Given the description of an element on the screen output the (x, y) to click on. 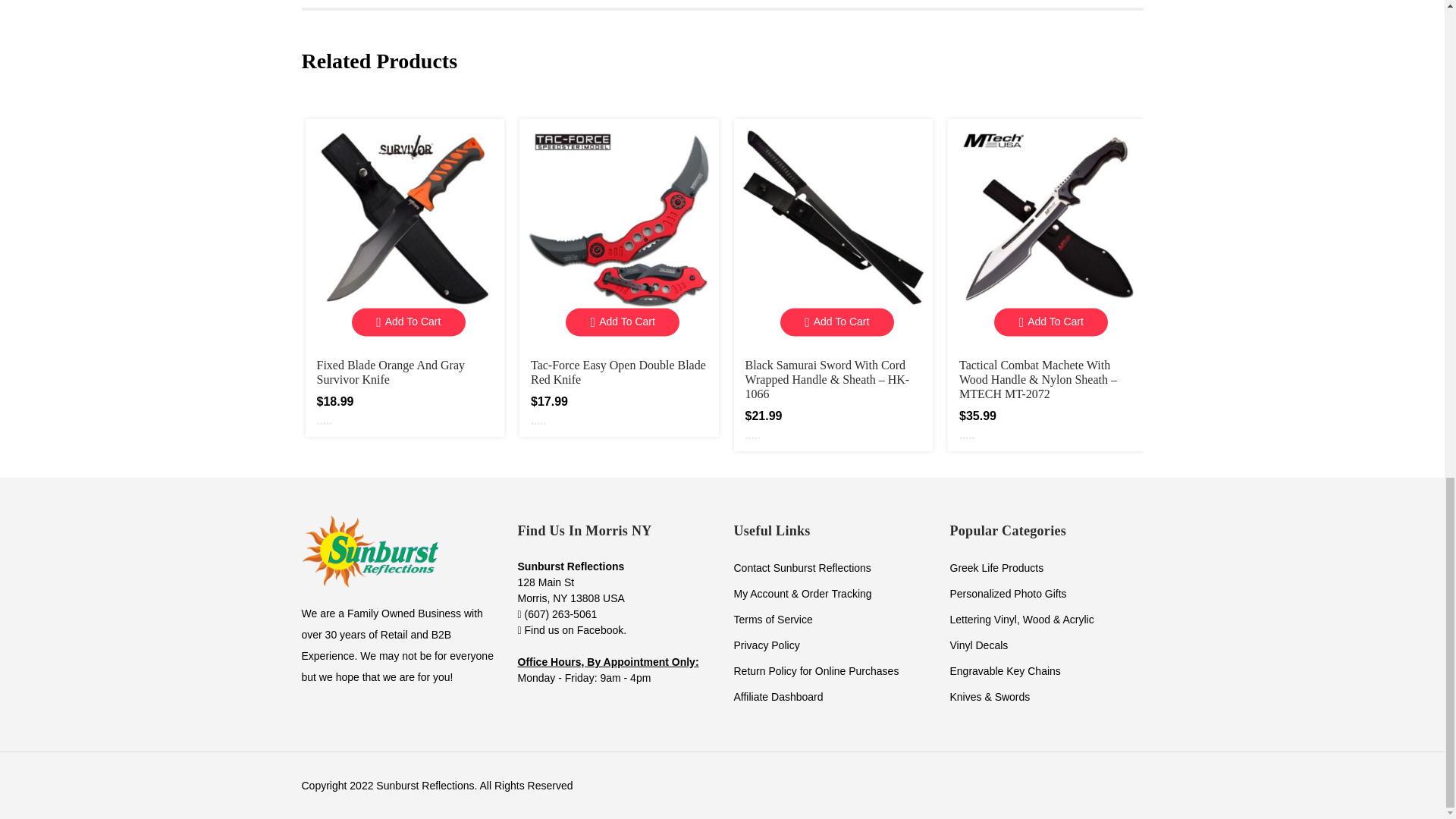
Sunburst Reflections (369, 550)
